Given the description of an element on the screen output the (x, y) to click on. 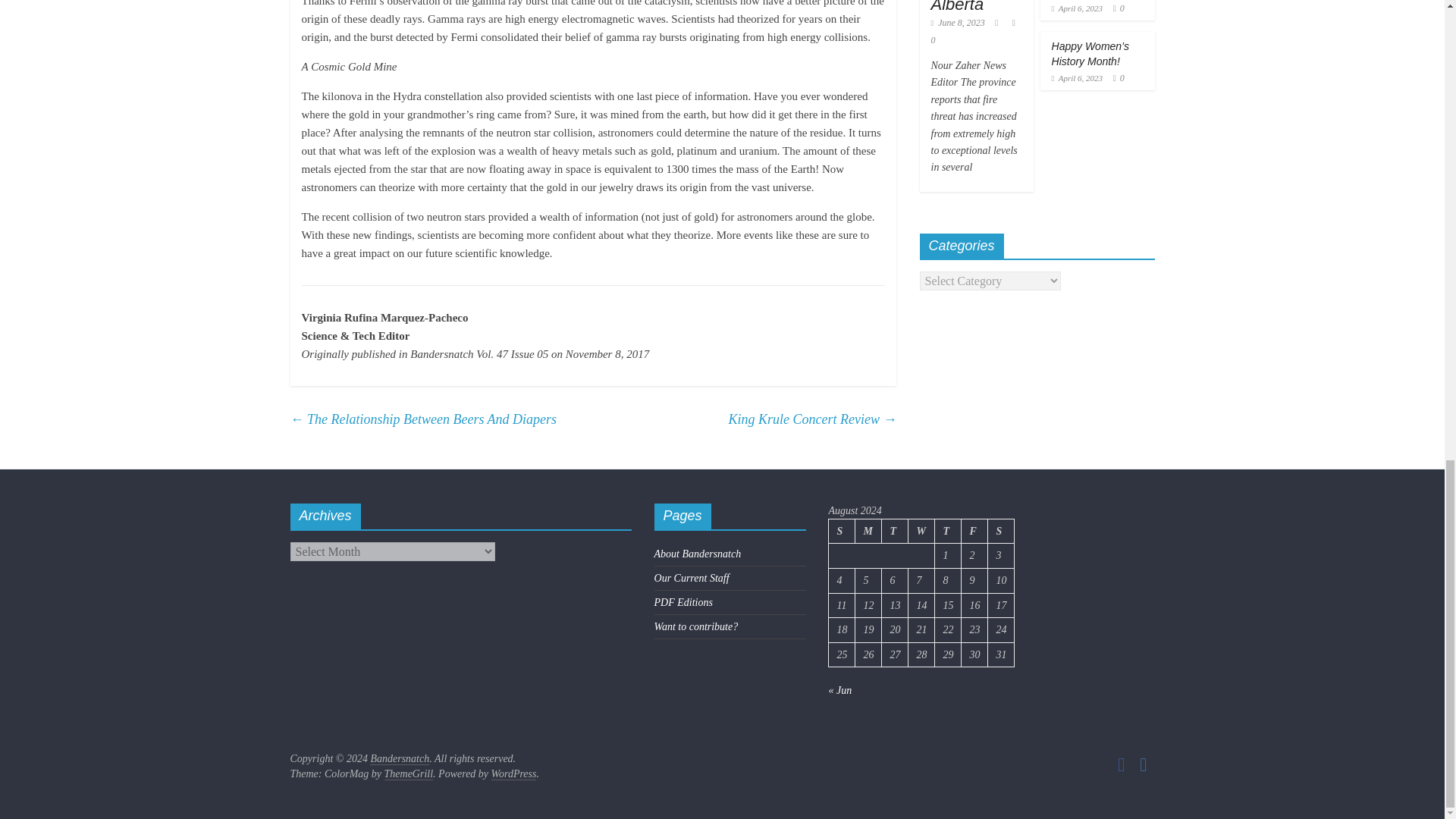
Wildfires in Alberta (971, 6)
8:30 am (1077, 77)
9:34 am (958, 22)
8:30 am (1077, 8)
